Given the description of an element on the screen output the (x, y) to click on. 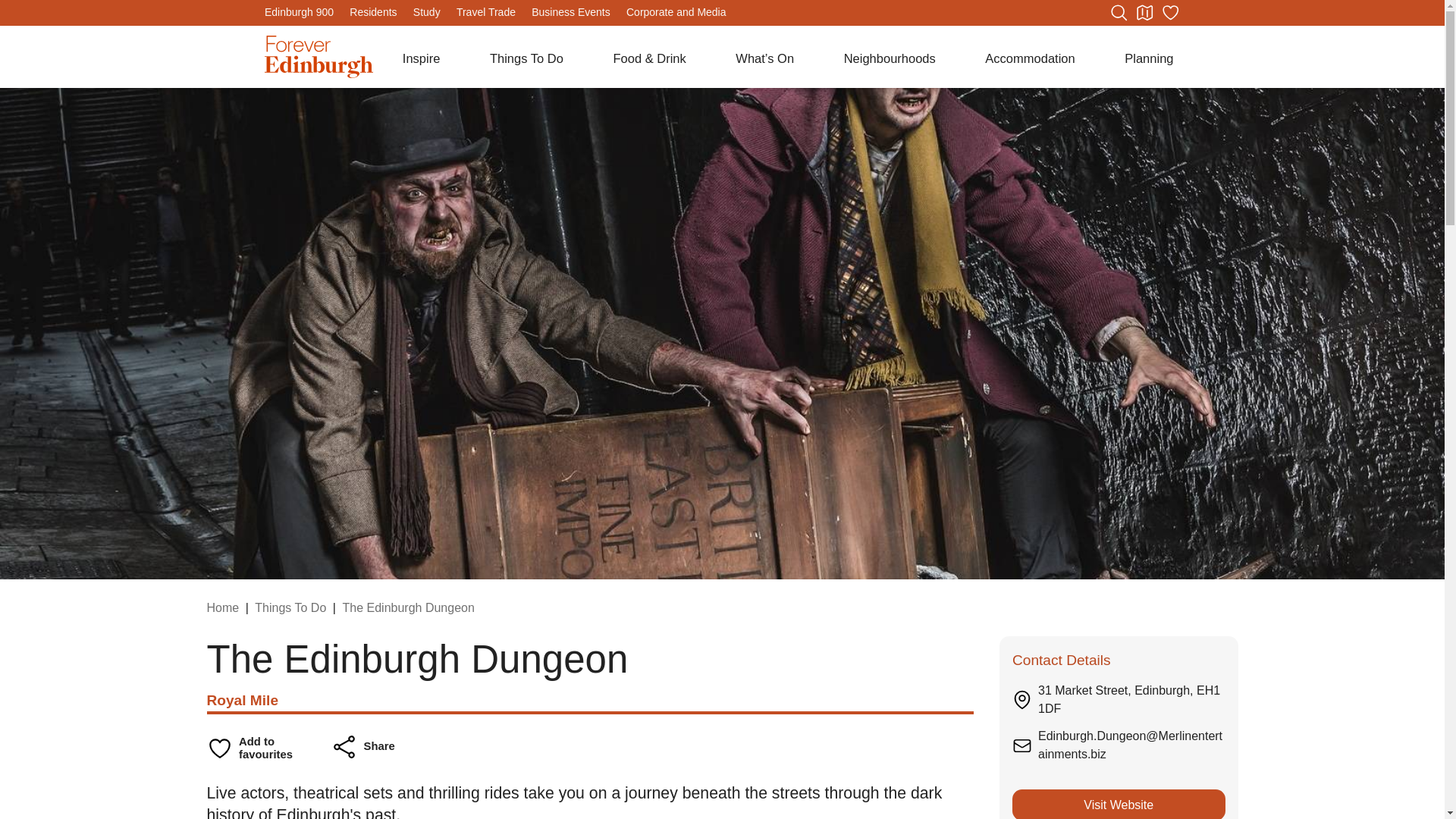
Business Events (570, 11)
Edinburgh 900 (298, 11)
Favourites (1169, 12)
Corporate and Media (676, 11)
Planning (1148, 58)
Study (427, 11)
Accommodation (1029, 58)
Map (1144, 12)
Search (1118, 12)
Things To Do (526, 58)
